Given the description of an element on the screen output the (x, y) to click on. 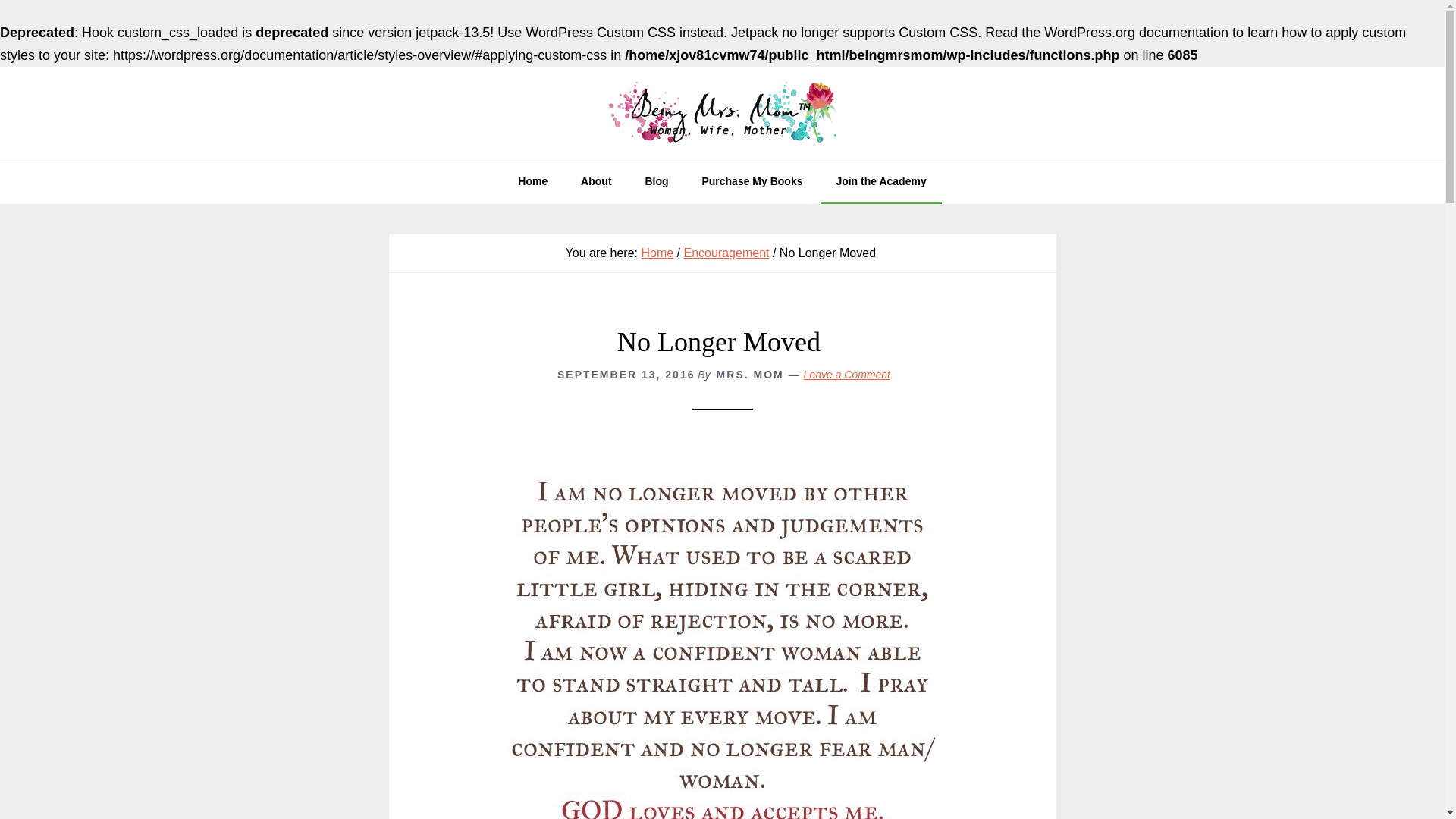
Encouragement (727, 252)
Home (532, 180)
Leave a Comment (846, 374)
MRS. MOM (750, 374)
Blog (655, 180)
Home (656, 252)
Purchase My Books (750, 180)
About (596, 180)
Join the Academy (880, 180)
